Given the description of an element on the screen output the (x, y) to click on. 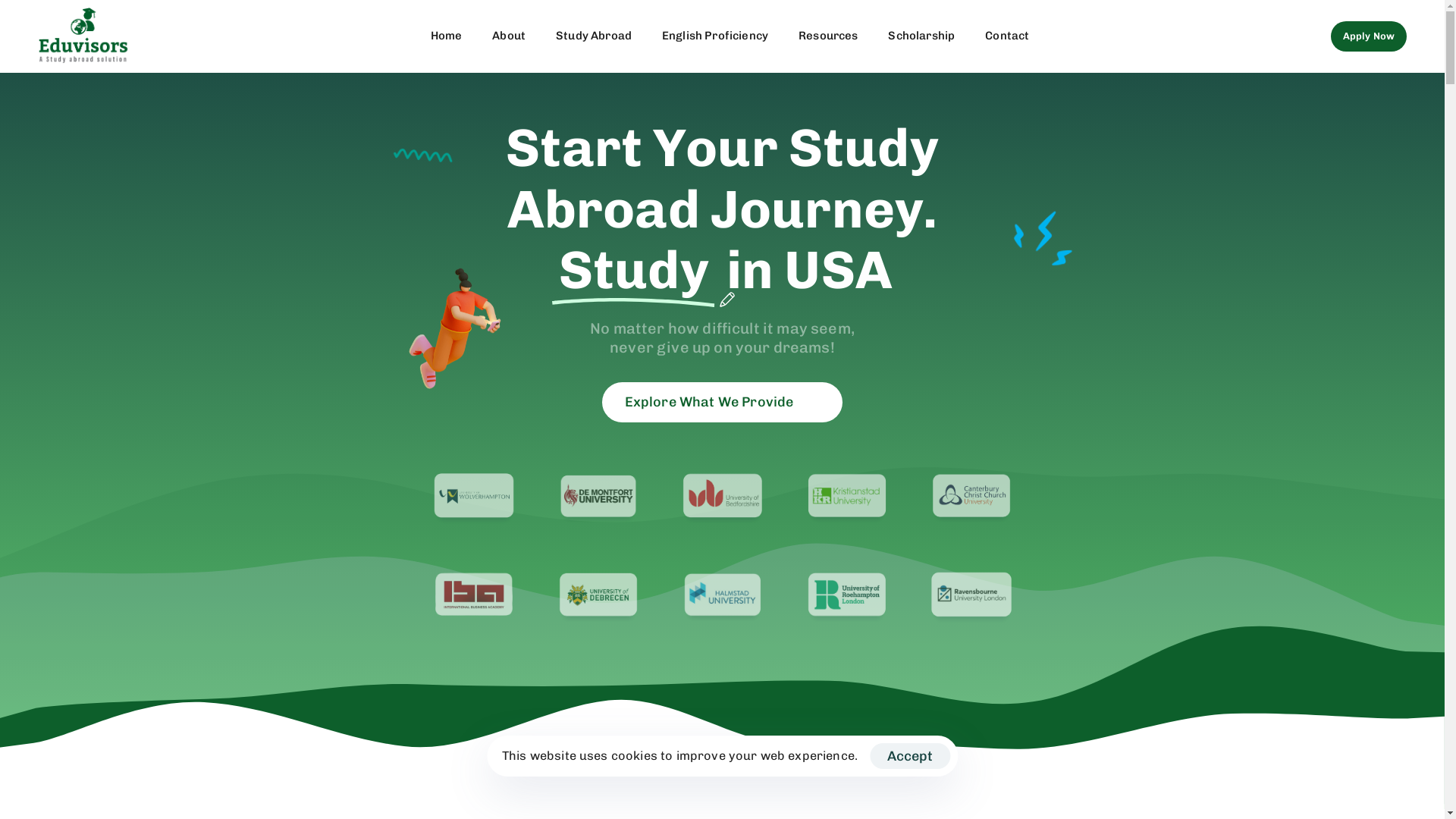
Resources Element type: text (573, 677)
Resources Element type: text (827, 36)
English Proficiency Element type: text (714, 36)
Our Team Element type: text (573, 626)
Study in Denmark Element type: text (722, 548)
E
x
p
l
o
r
e
W
h
a
t
W
e
P
r
o
v
i
d
e Element type: text (722, 402)
Xpert Stack Limited Element type: text (1100, 774)
Study in Sweden Element type: text (722, 574)
Study in the UK Element type: text (722, 522)
Our Guides Element type: text (573, 600)
Study in Malaysia Element type: text (722, 651)
Study Abroad Element type: text (593, 36)
Our Service Element type: text (320, 774)
Contact Element type: text (573, 548)
Home Element type: text (446, 36)
Our Credentials Element type: text (573, 574)
CGPA Calculator Element type: text (502, 774)
Scholarship Element type: text (920, 36)
Study in the USA Element type: text (722, 677)
About Element type: text (508, 36)
Eligibility Test Element type: text (406, 774)
Accept Element type: text (909, 755)
Contact Element type: text (1006, 36)
Study in Netherlands Element type: text (722, 626)
About Element type: text (573, 522)
Study in Hungary Element type: text (722, 600)
Partner Universities Element type: text (573, 651)
A
p
p
l
y
N
o
w Element type: text (1368, 36)
